Given the description of an element on the screen output the (x, y) to click on. 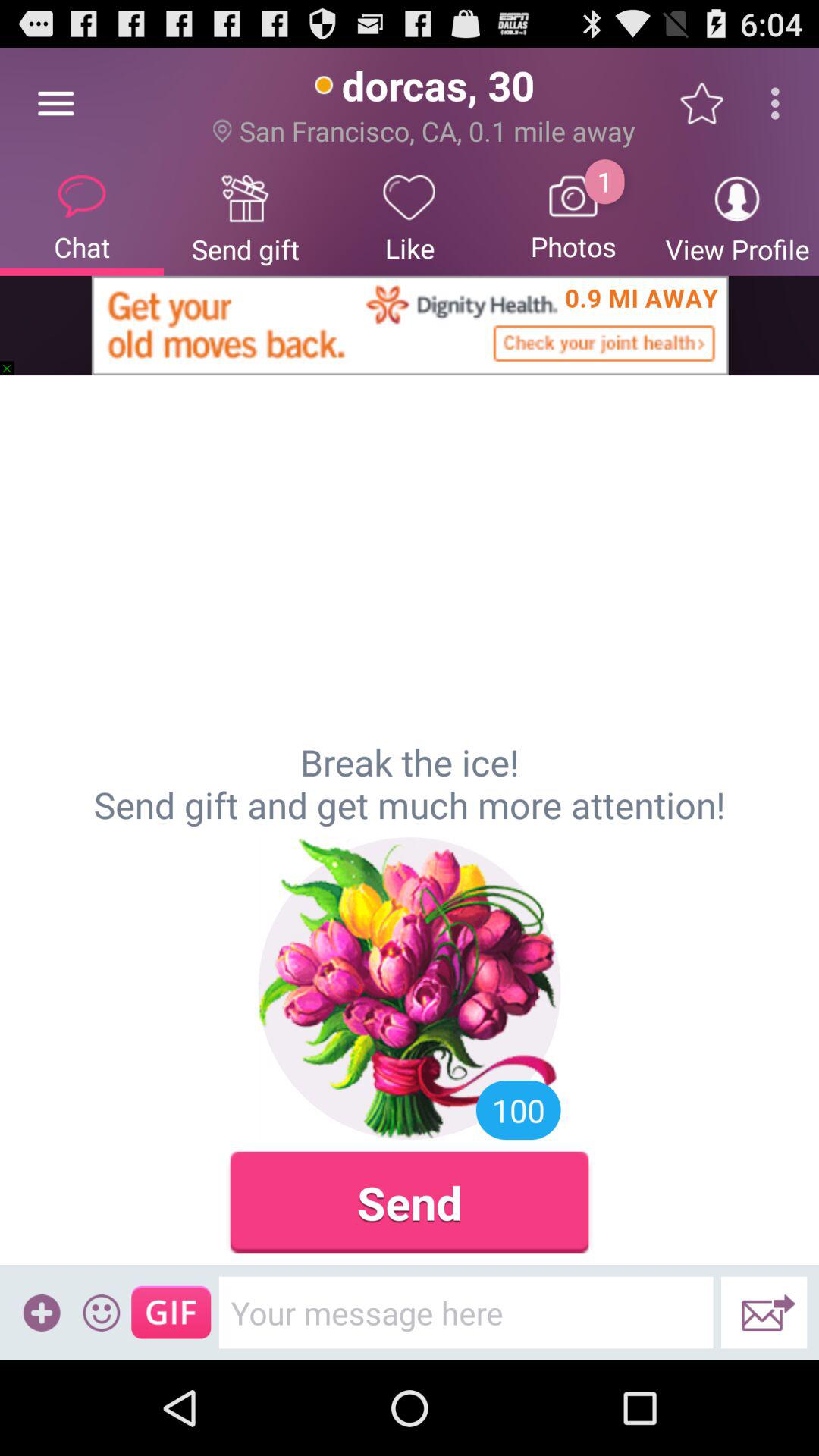
launch icon below break the ice icon (101, 1312)
